Given the description of an element on the screen output the (x, y) to click on. 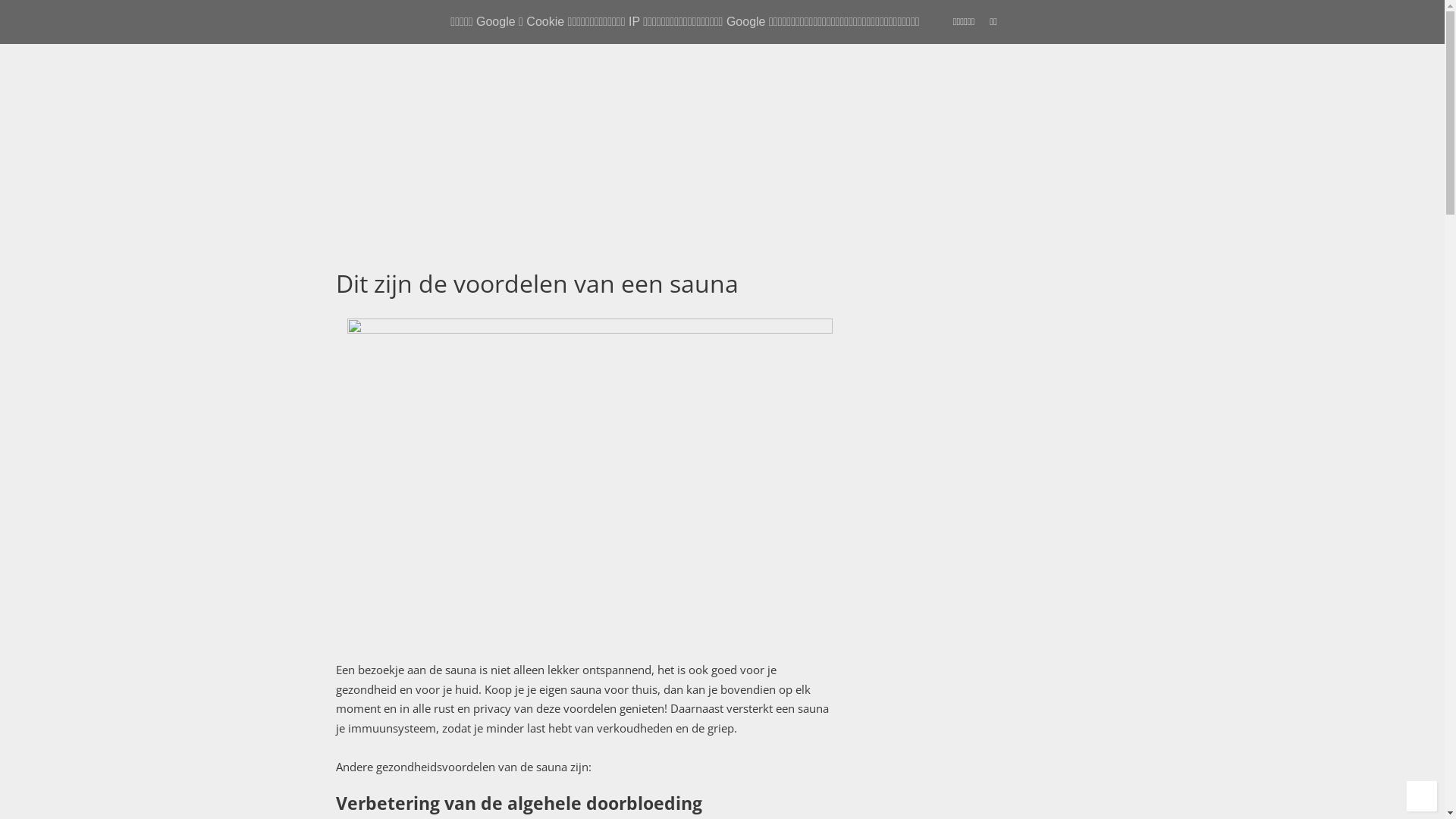
Lees hier onze Privacy & Cookies regels Element type: text (957, 464)
Inschrijven Element type: text (906, 429)
